Given the description of an element on the screen output the (x, y) to click on. 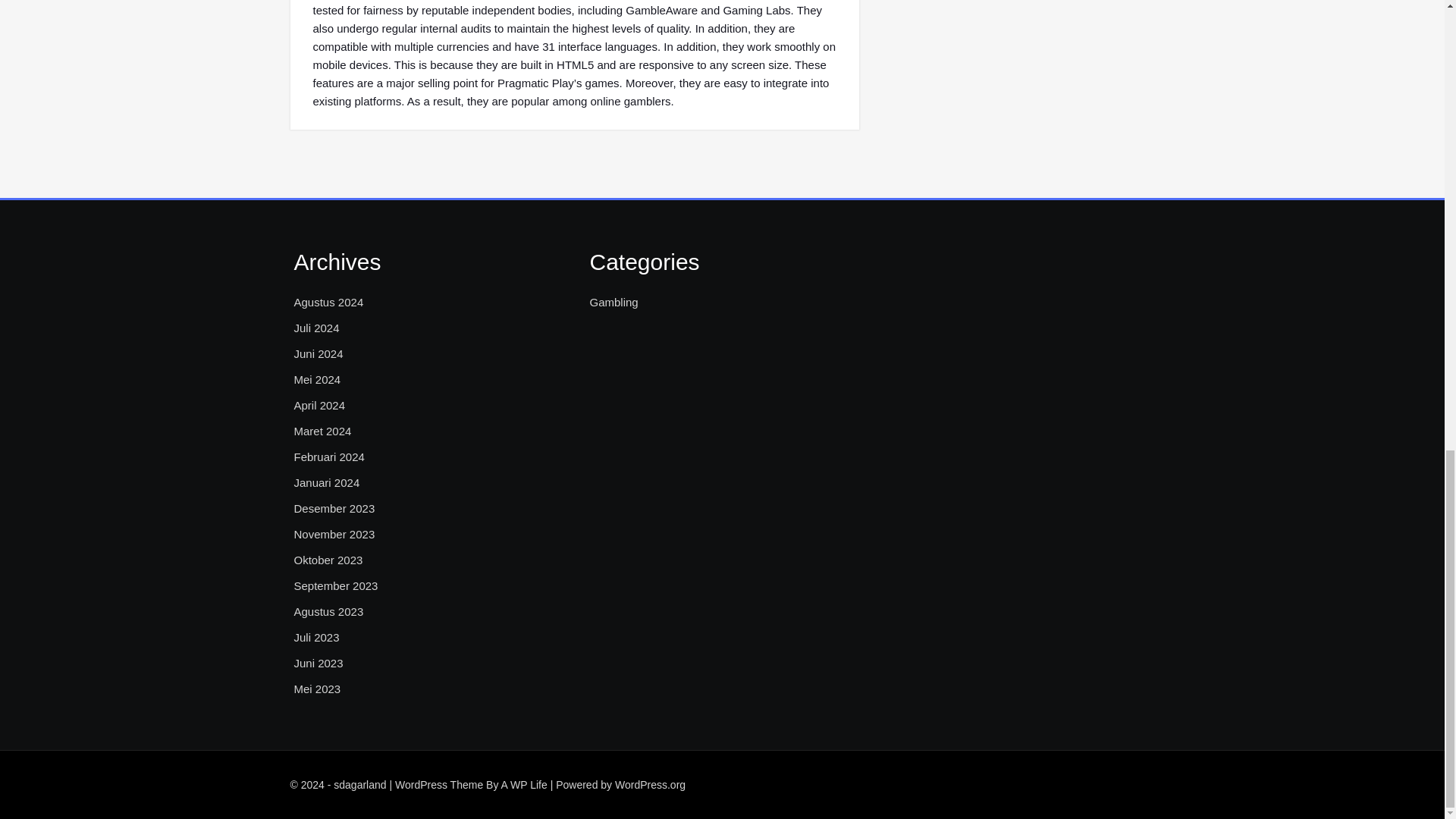
September 2023 (336, 586)
November 2023 (334, 534)
Juni 2023 (318, 663)
Januari 2024 (326, 483)
Agustus 2023 (329, 611)
Juli 2023 (316, 637)
Desember 2023 (334, 508)
Oktober 2023 (328, 560)
Juni 2024 (318, 353)
Mei 2023 (317, 689)
